Given the description of an element on the screen output the (x, y) to click on. 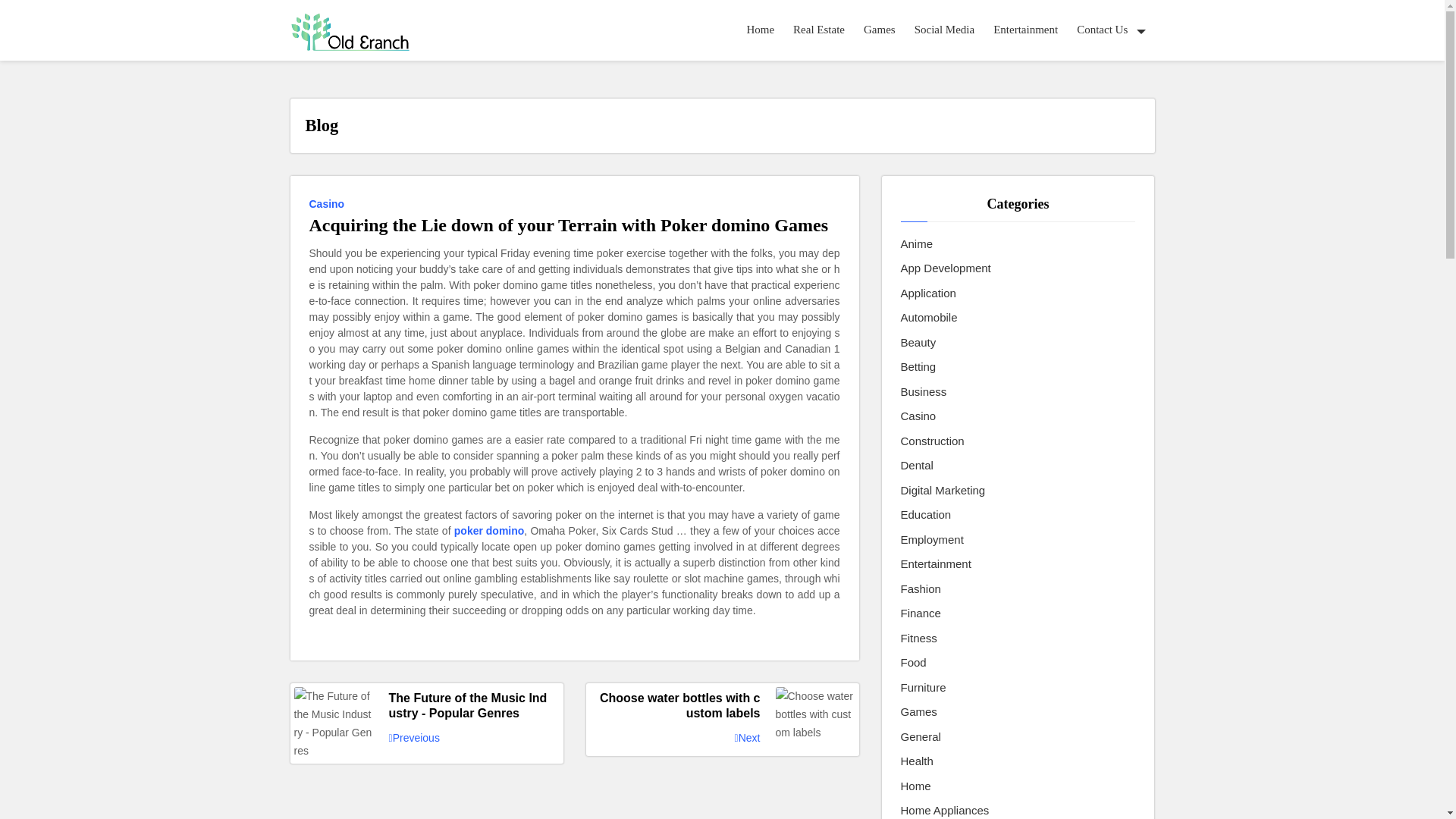
Real Estate (819, 29)
Digital Marketing (943, 490)
Dental (917, 466)
Choose water bottles with custom labels (721, 706)
Preveious (413, 737)
Games (919, 712)
Next (747, 737)
Contact Us (1110, 29)
Finance (920, 613)
Entertainment (1025, 29)
